Given the description of an element on the screen output the (x, y) to click on. 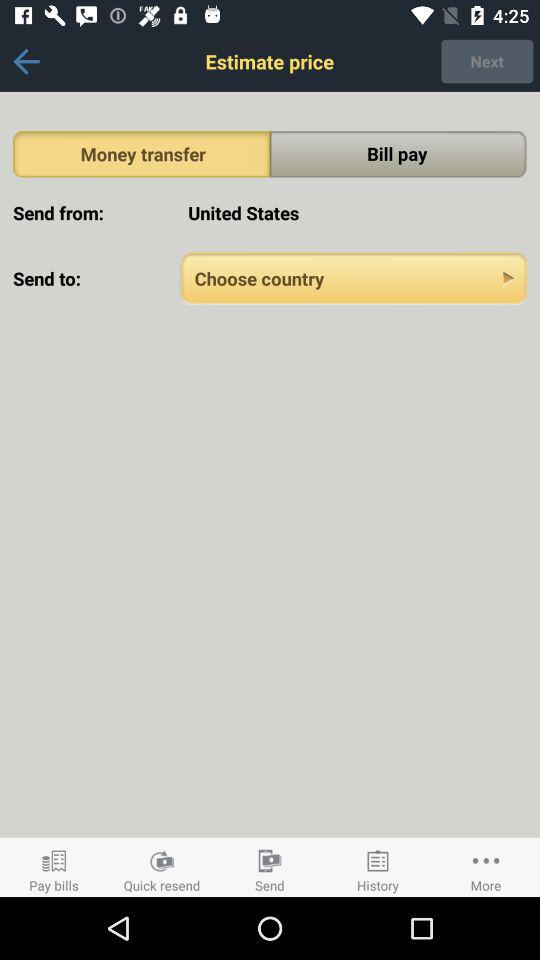
open the money transfer icon (141, 154)
